Given the description of an element on the screen output the (x, y) to click on. 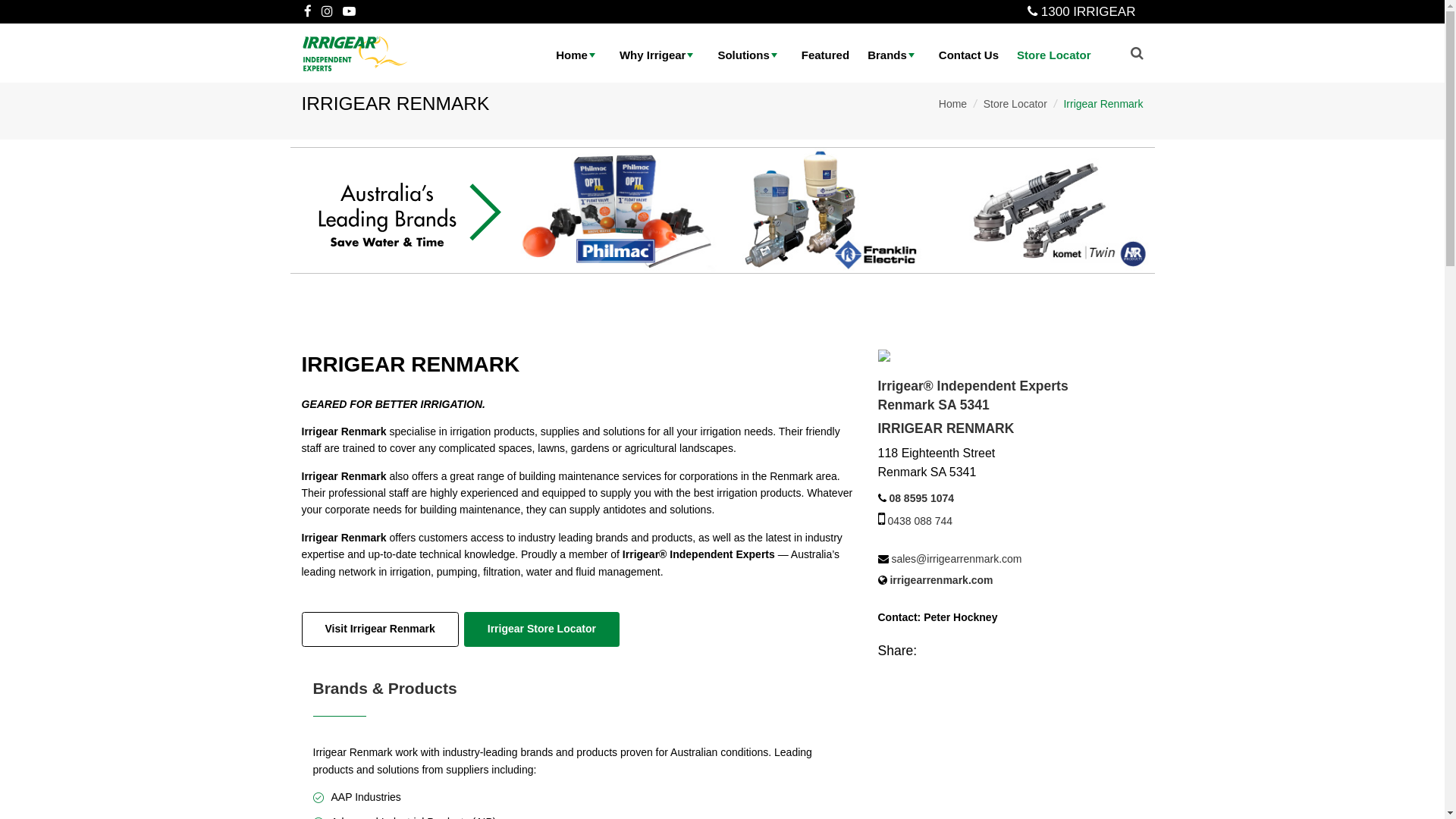
Irrigear Store Locator Element type: text (541, 628)
Home Element type: text (952, 103)
Why Irrigear Element type: text (659, 54)
Visit Irrigear Renmark Element type: text (379, 628)
Contact Us Element type: text (968, 54)
0438 088 744 Element type: text (919, 520)
sales@irrigearrenmark.com Element type: text (956, 558)
Featured Element type: text (825, 54)
Store Locator Element type: text (1053, 54)
Solutions Element type: text (749, 54)
Home Element type: text (578, 54)
1300 IRRIGEAR Element type: text (1088, 11)
Store Locator Element type: text (1015, 103)
Brands Element type: text (893, 54)
08 8595 1074 Element type: text (920, 498)
irrigearrenmark.com Element type: text (940, 579)
